Given the description of an element on the screen output the (x, y) to click on. 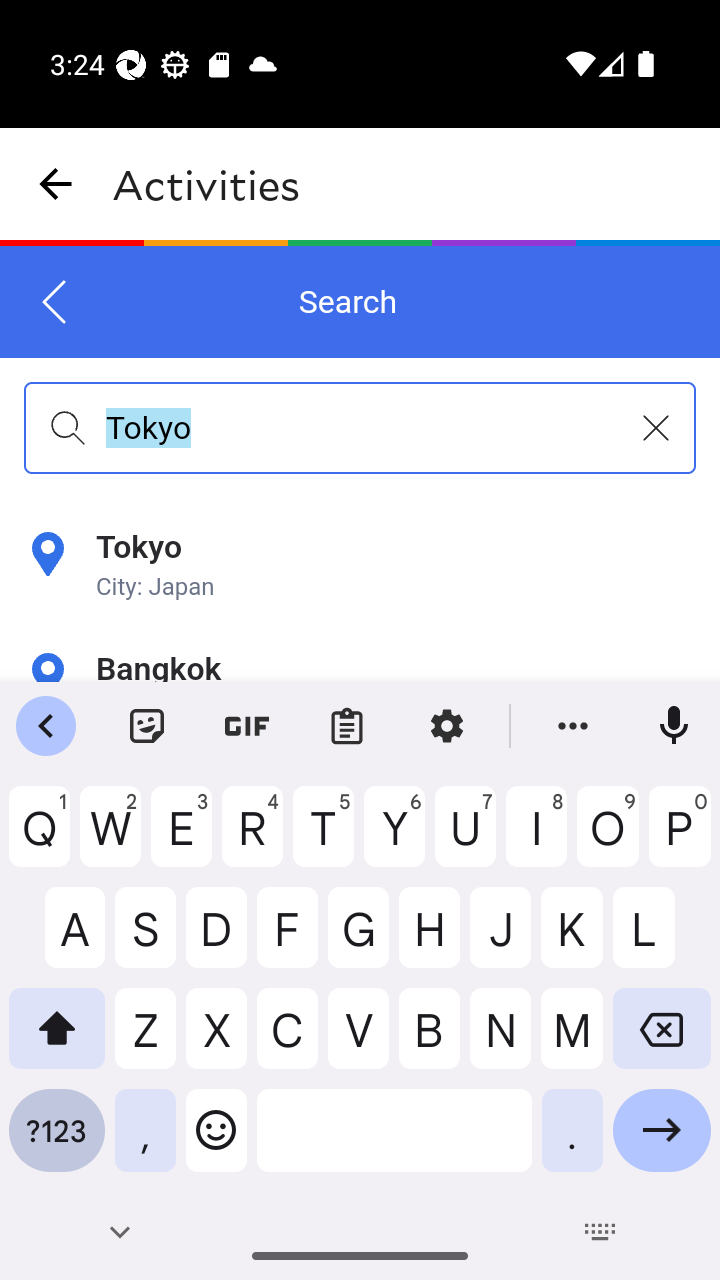
navigation_button (56, 184)
Find your next adventure   Tokyo Search (360, 463)
Back (55, 301)
Tokyo (359, 427)
Clear (655, 428)
Tokyo City: Japan (360, 566)
